Given the description of an element on the screen output the (x, y) to click on. 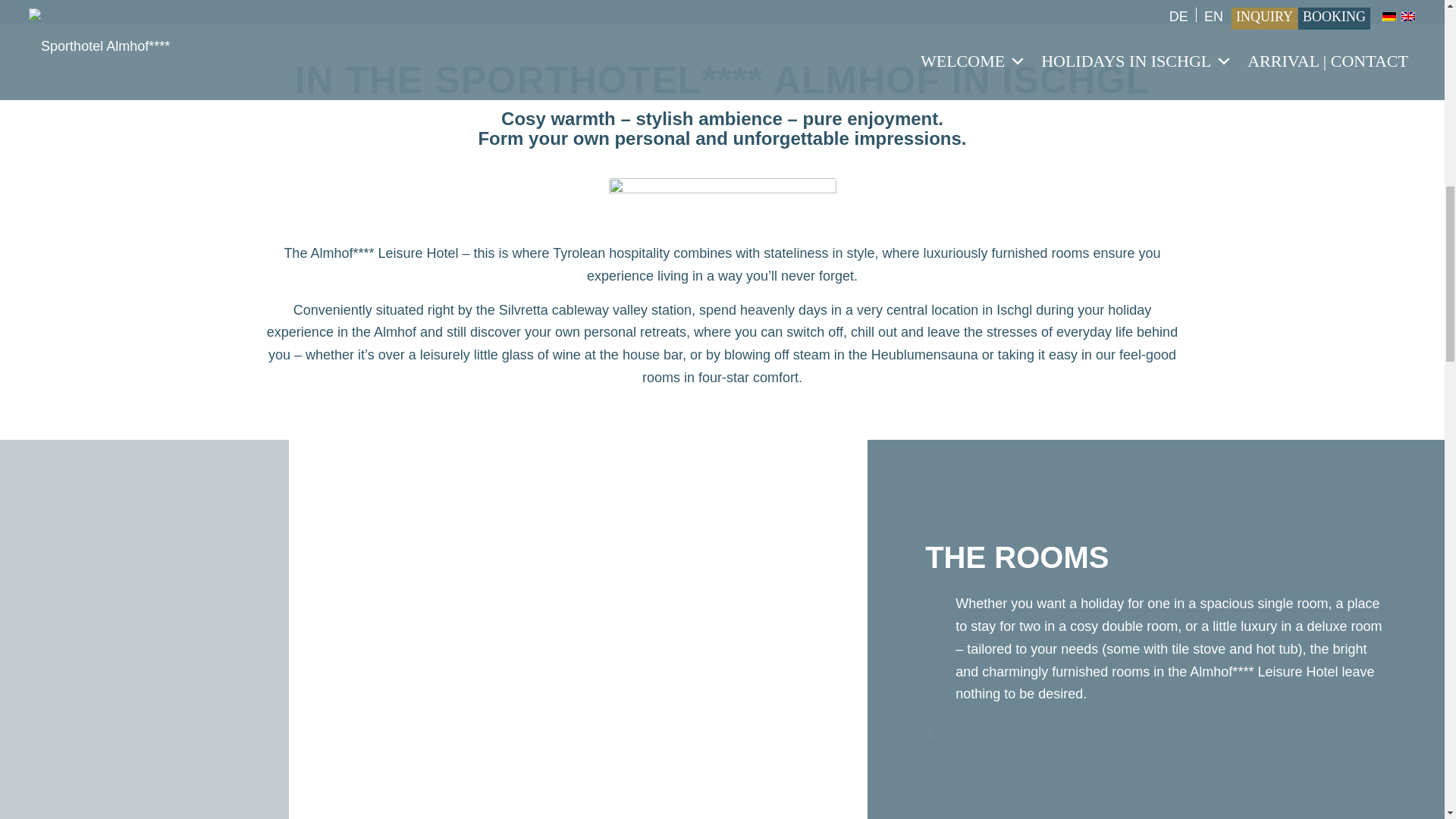
Sporthotel-Almhof-Ischgl-Schnoerkel-gold (721, 204)
